Given the description of an element on the screen output the (x, y) to click on. 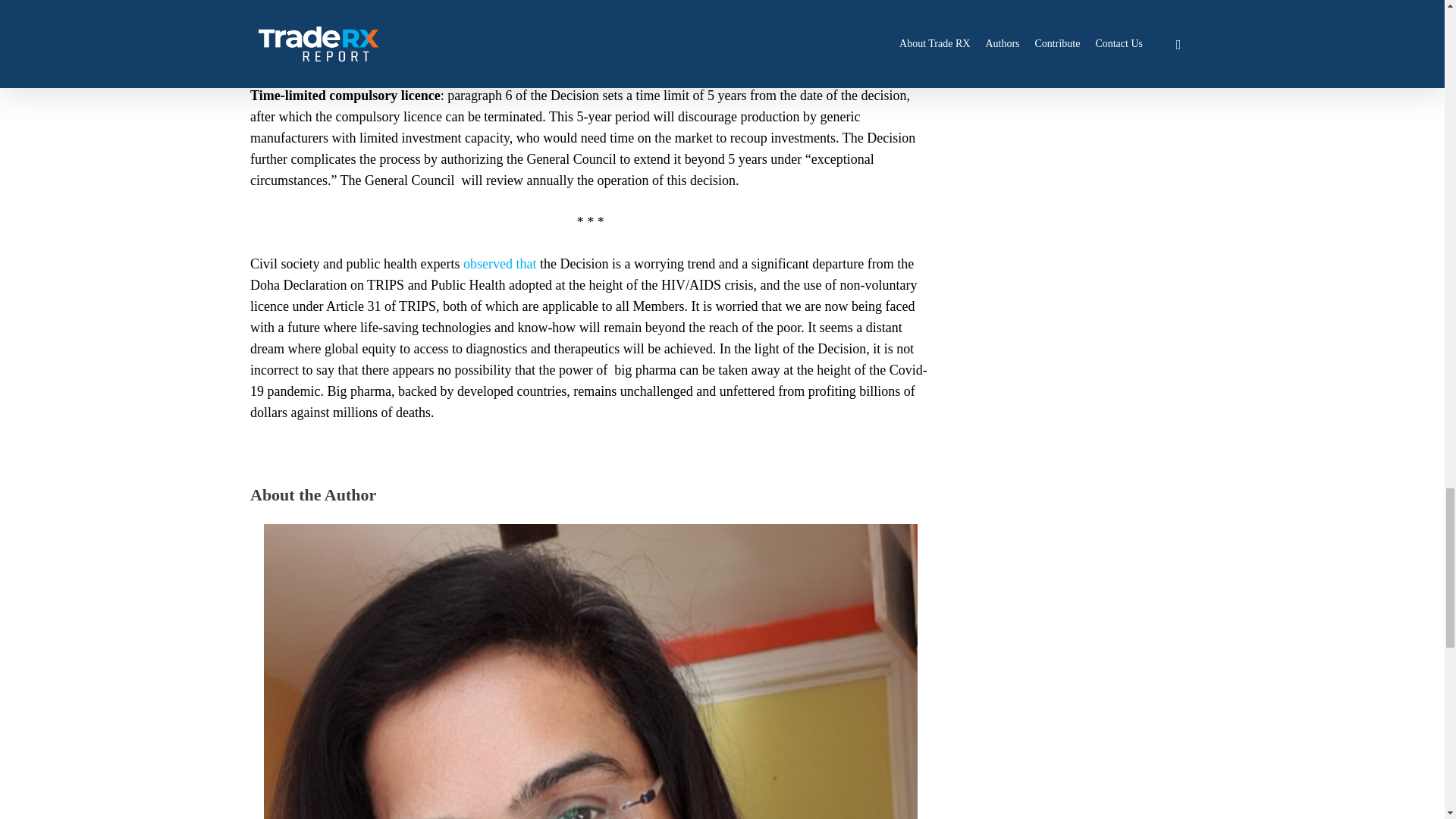
that (525, 263)
observed (487, 263)
